Given the description of an element on the screen output the (x, y) to click on. 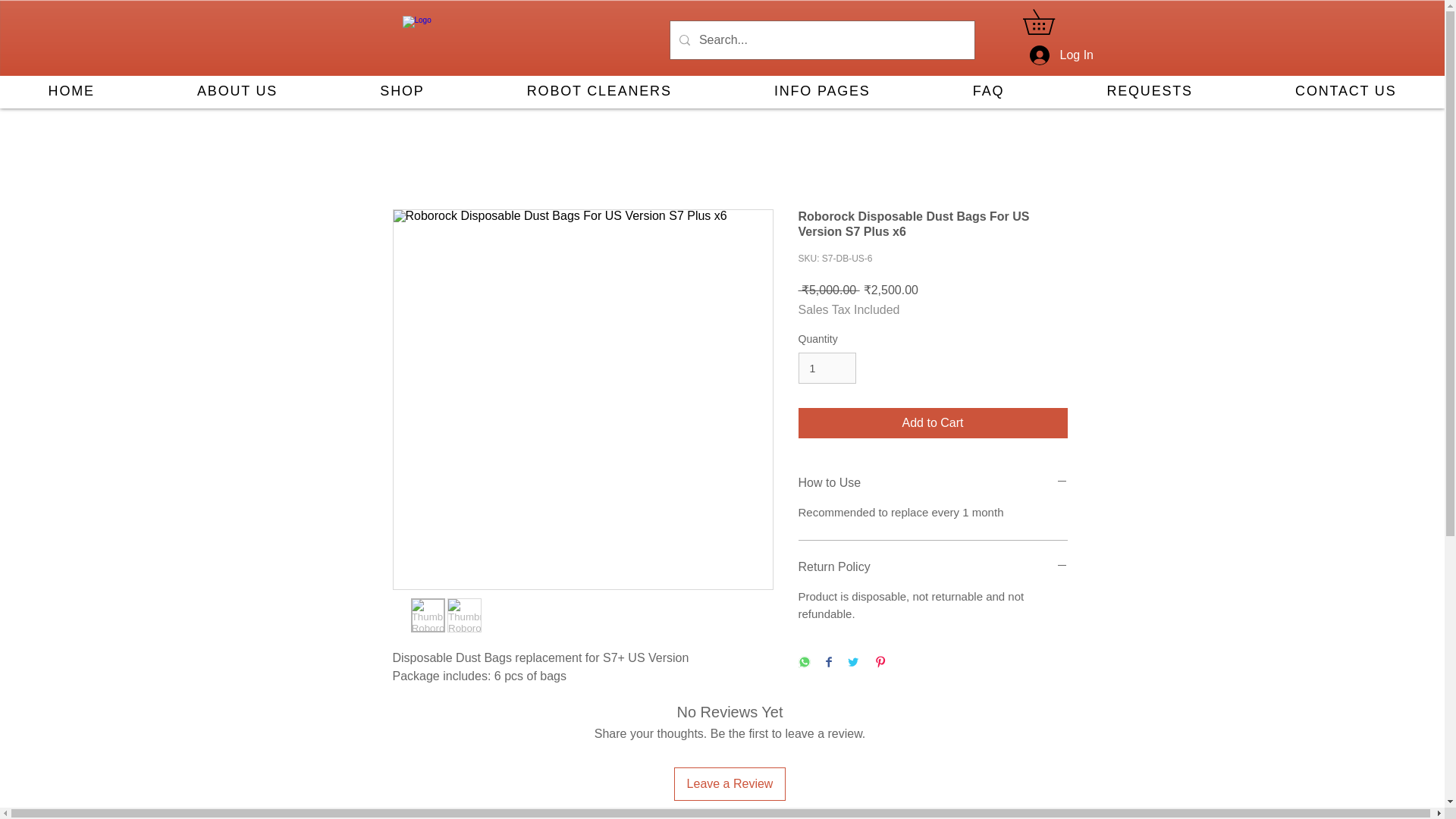
FAQ (988, 92)
ABOUT US (236, 92)
ROBOT CLEANERS (599, 92)
Return Policy (932, 566)
HOME (71, 92)
How to Use (932, 483)
SHOP (401, 92)
1 (826, 368)
CONTACT US (1345, 92)
Log In (1048, 54)
